Given the description of an element on the screen output the (x, y) to click on. 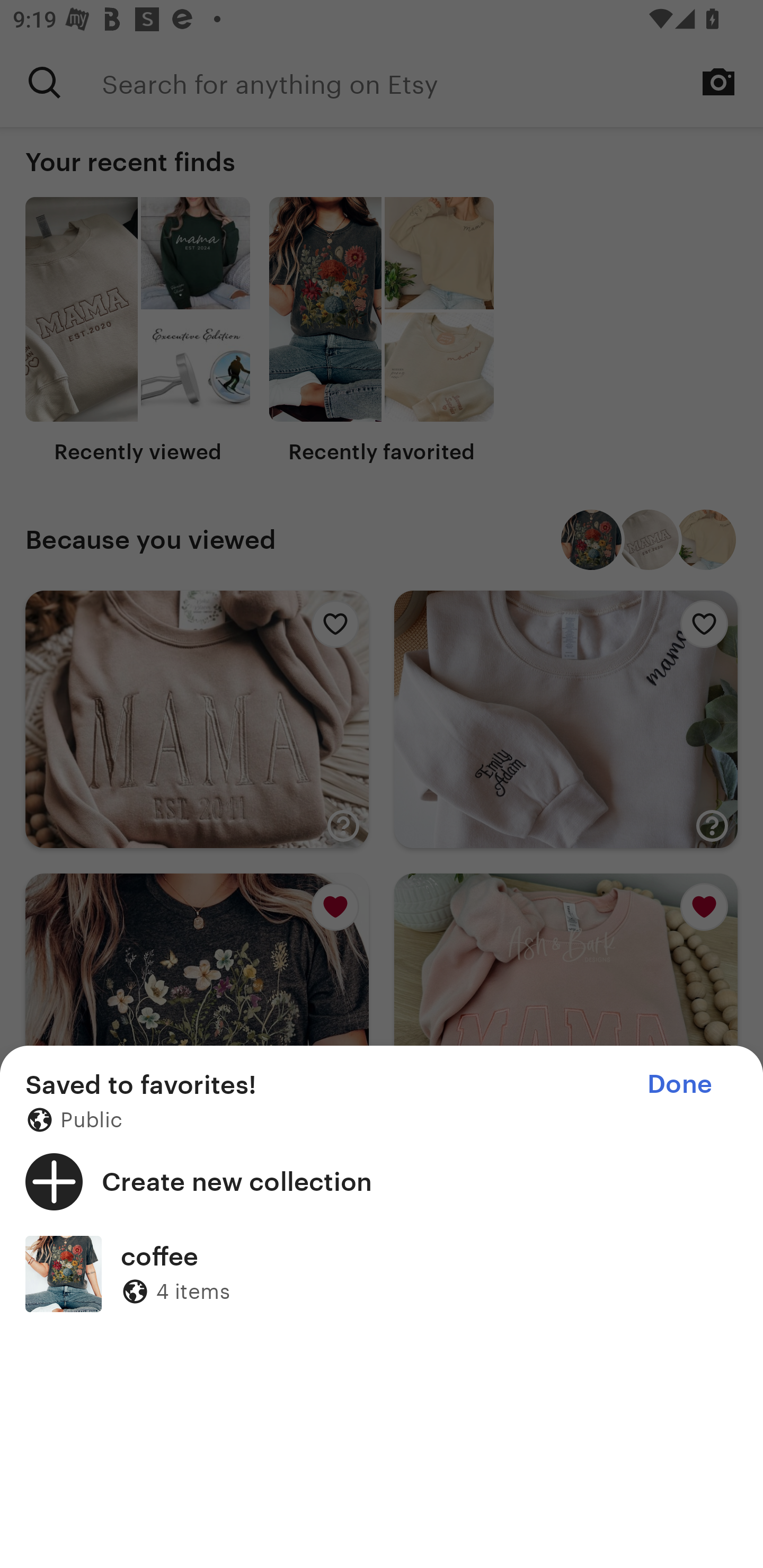
Done (679, 1083)
Create new collection (381, 1181)
coffee 4 items (381, 1273)
